Given the description of an element on the screen output the (x, y) to click on. 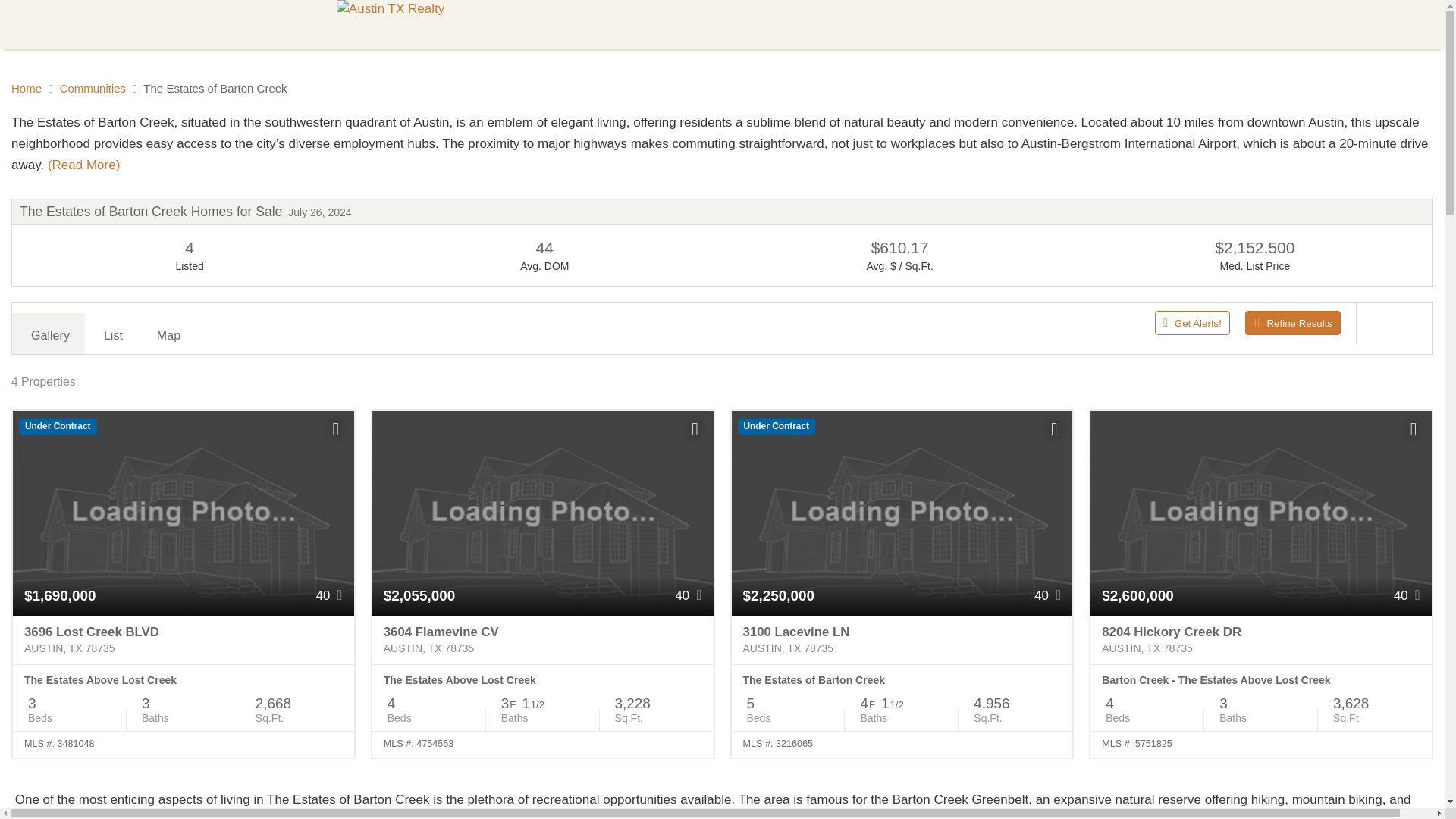
3100 Lacevine LN Austin,  TX 78735 (900, 640)
3604 Flamevine CV Austin,  TX 78735 (542, 640)
8204 Hickory Creek DR Austin,  TX 78735 (1260, 640)
3696 Lost Creek BLVD Austin,  TX 78735 (183, 640)
